Given the description of an element on the screen output the (x, y) to click on. 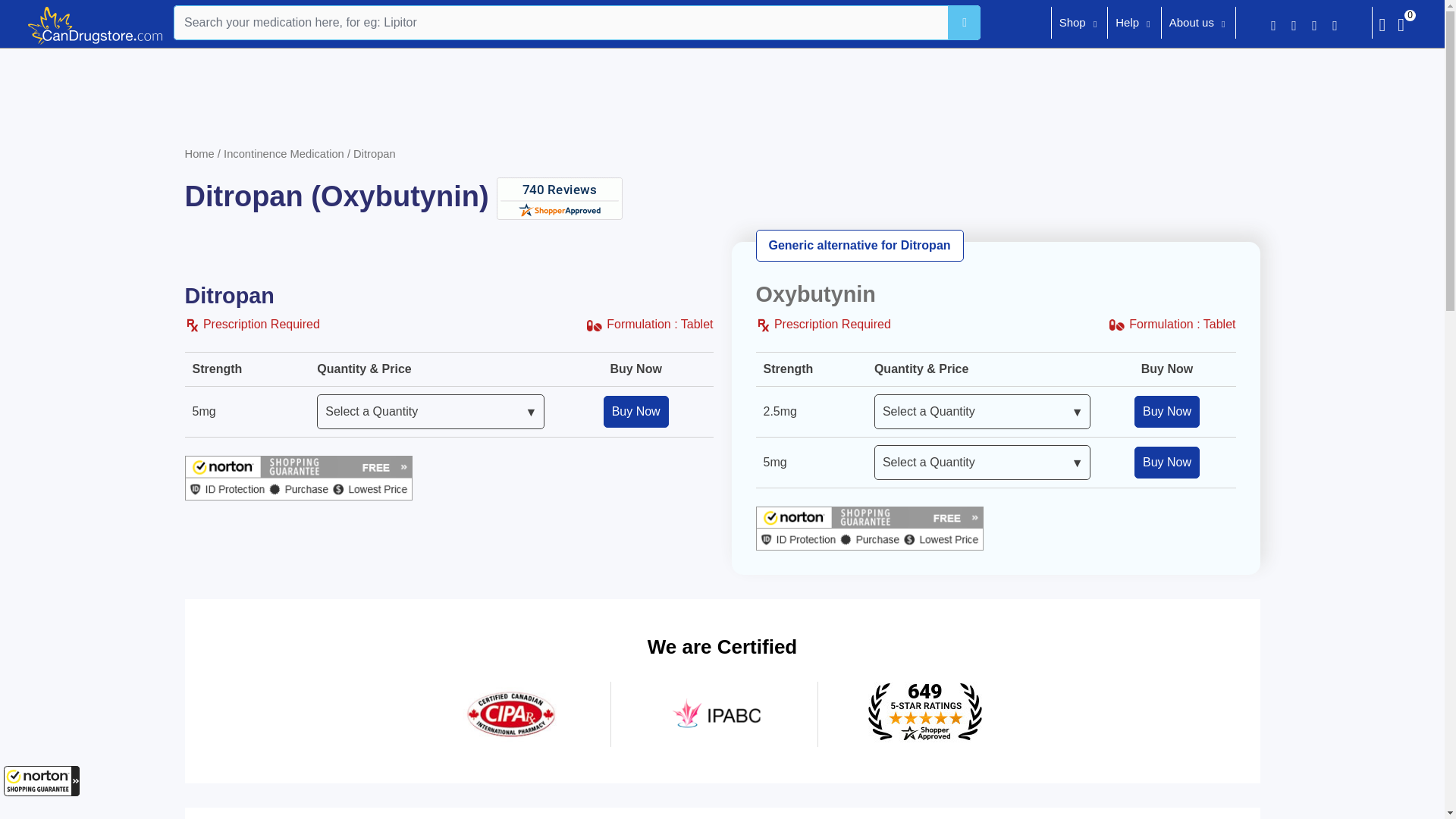
Help (1126, 23)
Shop (1072, 23)
Unused iFrame 1 (42, 780)
